Given the description of an element on the screen output the (x, y) to click on. 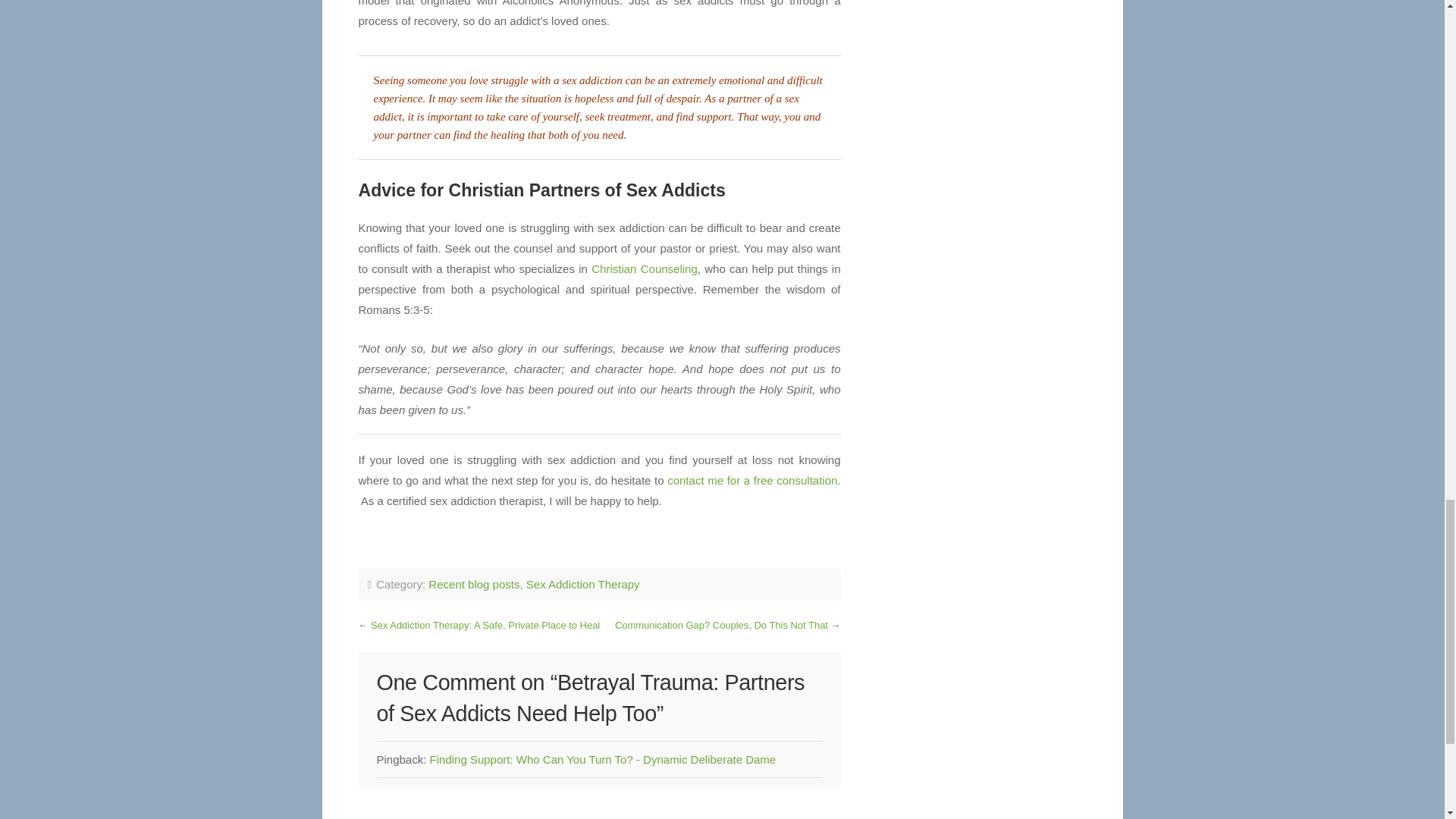
Sex Addiction Therapy: A Safe, Private Place to Heal (485, 624)
Christian Counseling (644, 268)
Recent blog posts (473, 584)
Communication Gap? Couples, Do This Not That (721, 624)
contact me for a free consultation (750, 480)
Sex Addiction Therapy (582, 584)
